Given the description of an element on the screen output the (x, y) to click on. 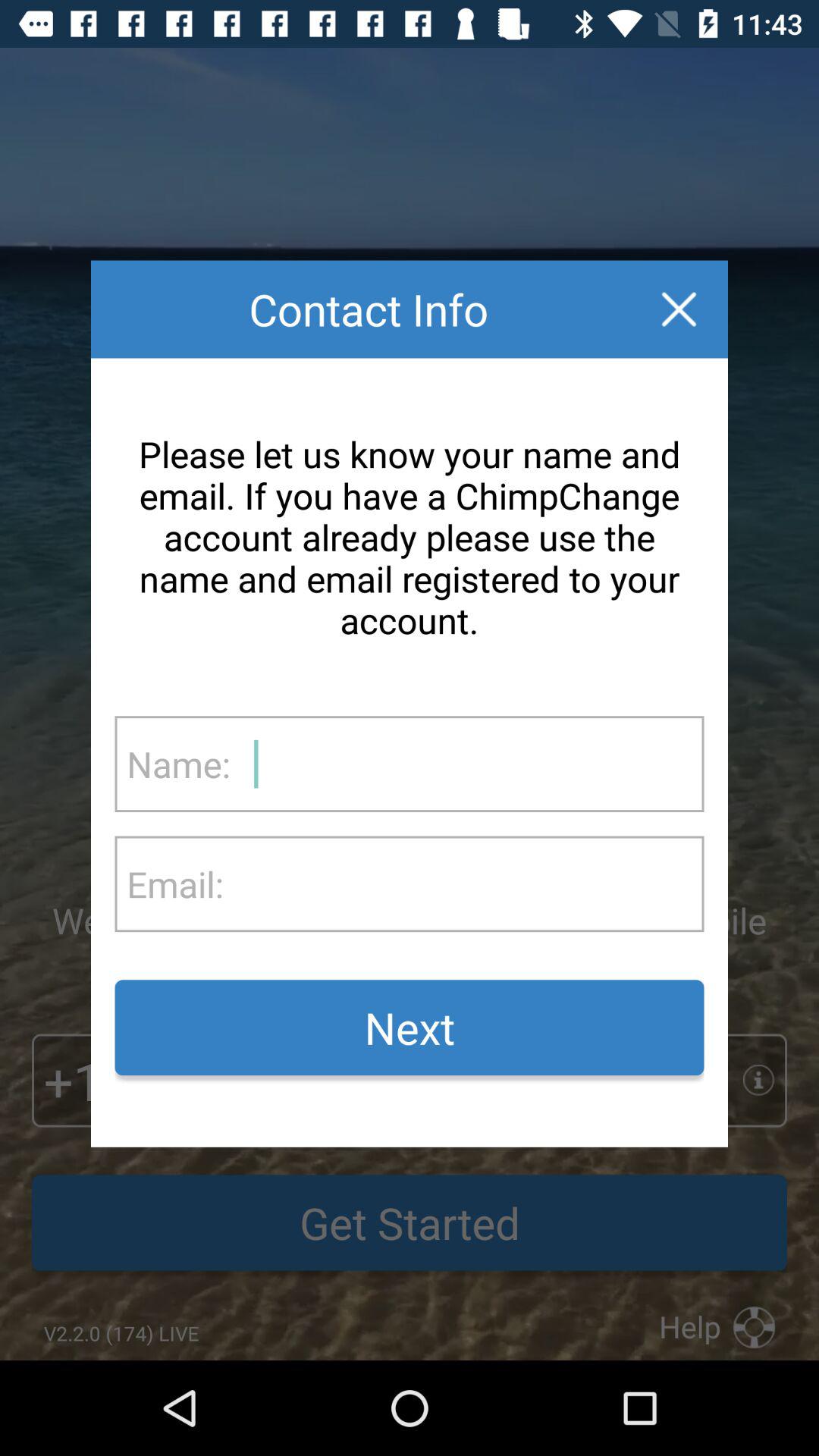
turn on icon at the top right corner (679, 309)
